Given the description of an element on the screen output the (x, y) to click on. 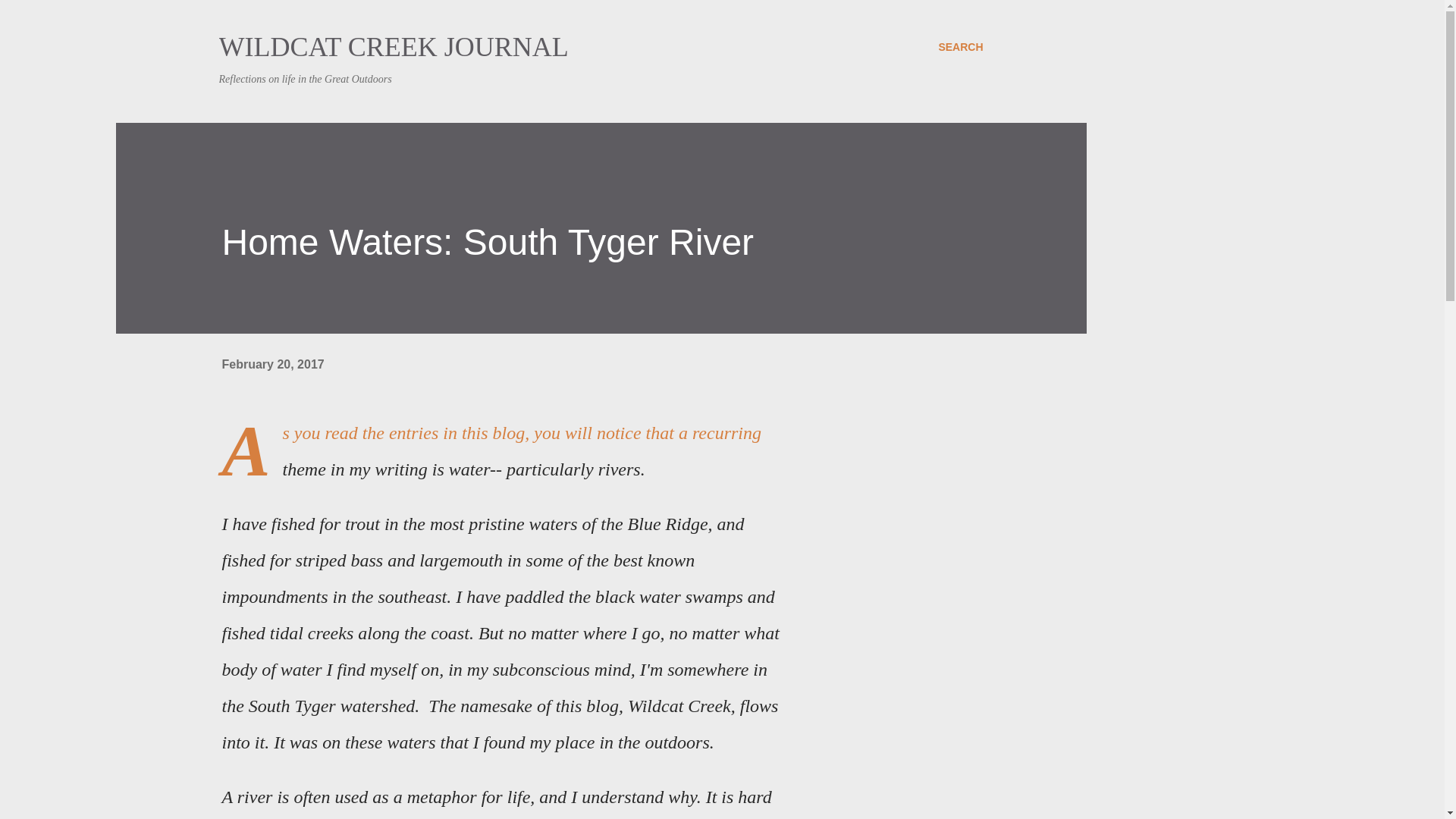
SEARCH (959, 46)
February 20, 2017 (272, 364)
WILDCAT CREEK JOURNAL (392, 46)
permanent link (272, 364)
